Given the description of an element on the screen output the (x, y) to click on. 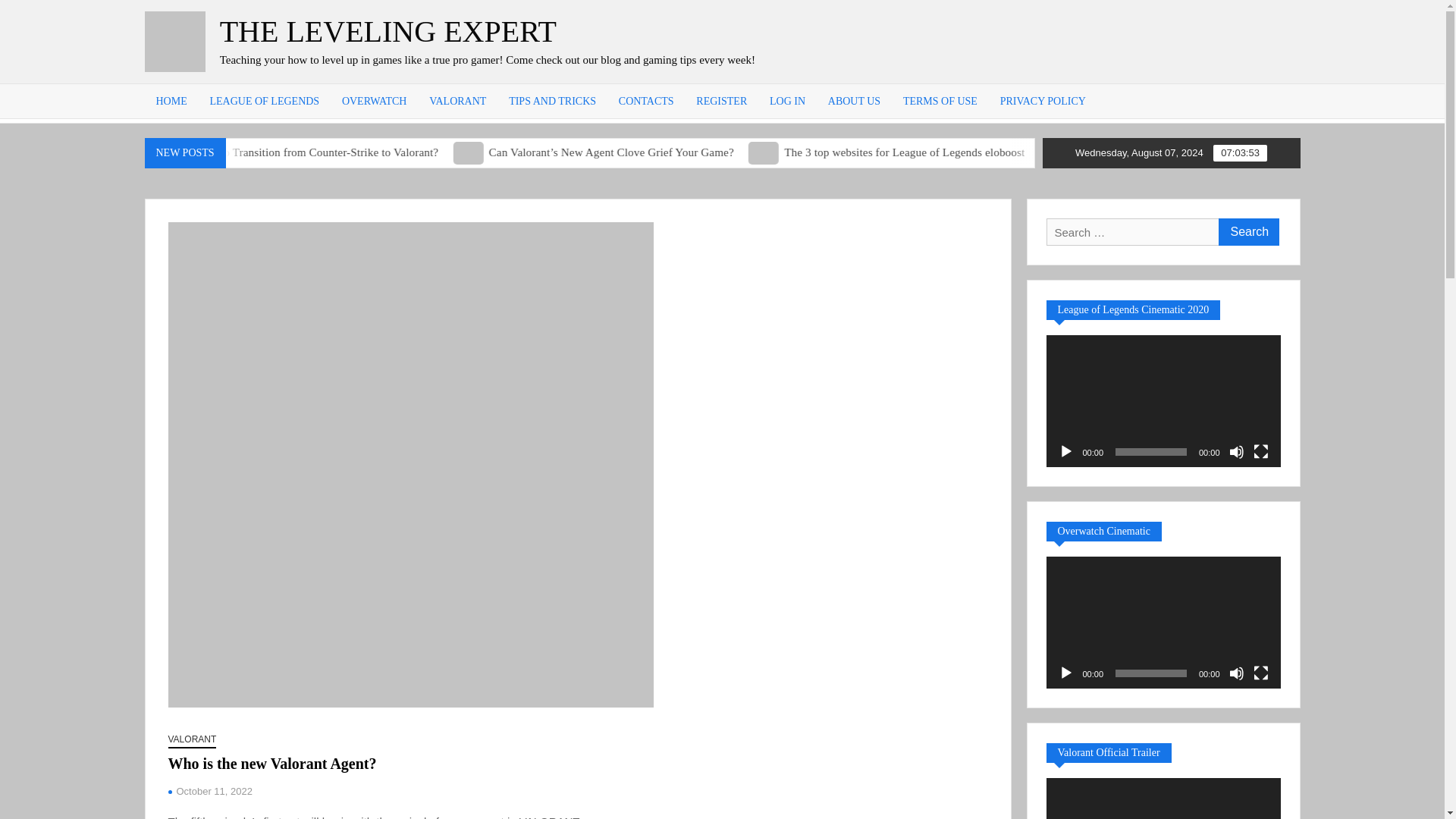
How to Transition from Counter-Strike to Valorant? (448, 152)
THE LEVELING EXPERT (387, 31)
The 3 top websites for League of Legends eloboost (888, 151)
VALORANT (457, 100)
LEAGUE OF LEGENDS (264, 100)
Search (1247, 231)
TIPS AND TRICKS (552, 100)
CONTACTS (646, 100)
Search (1247, 231)
HOME (171, 100)
